Given the description of an element on the screen output the (x, y) to click on. 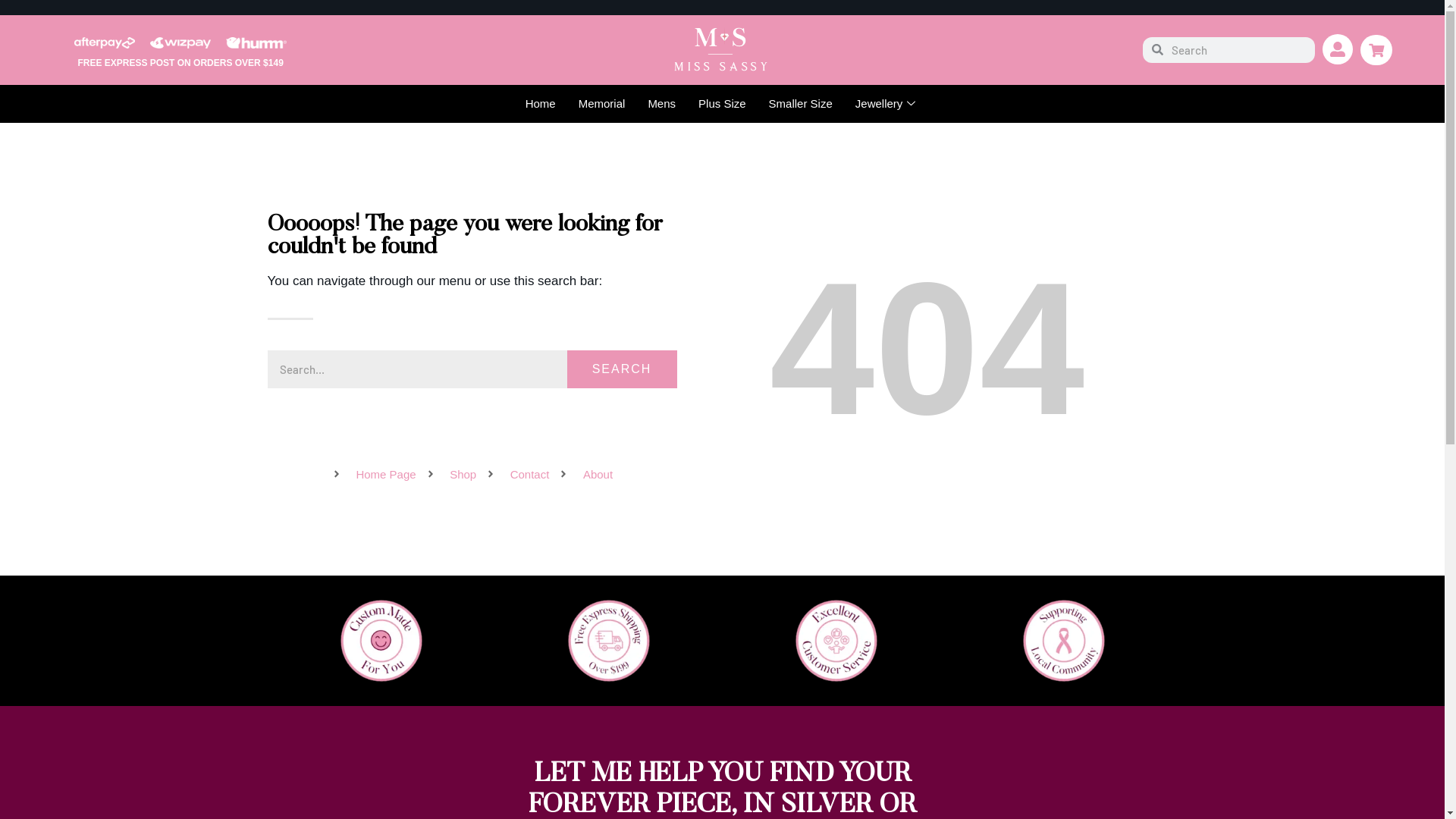
Contact Element type: text (517, 474)
About Element type: text (585, 474)
SEARCH Element type: text (622, 369)
Home Element type: text (540, 103)
Plus Size Element type: text (722, 103)
Mens Element type: text (661, 103)
Smaller Size Element type: text (800, 103)
Memorial Element type: text (602, 103)
Shop Element type: text (450, 474)
Home Page Element type: text (373, 474)
Jewellery Element type: text (887, 103)
